Given the description of an element on the screen output the (x, y) to click on. 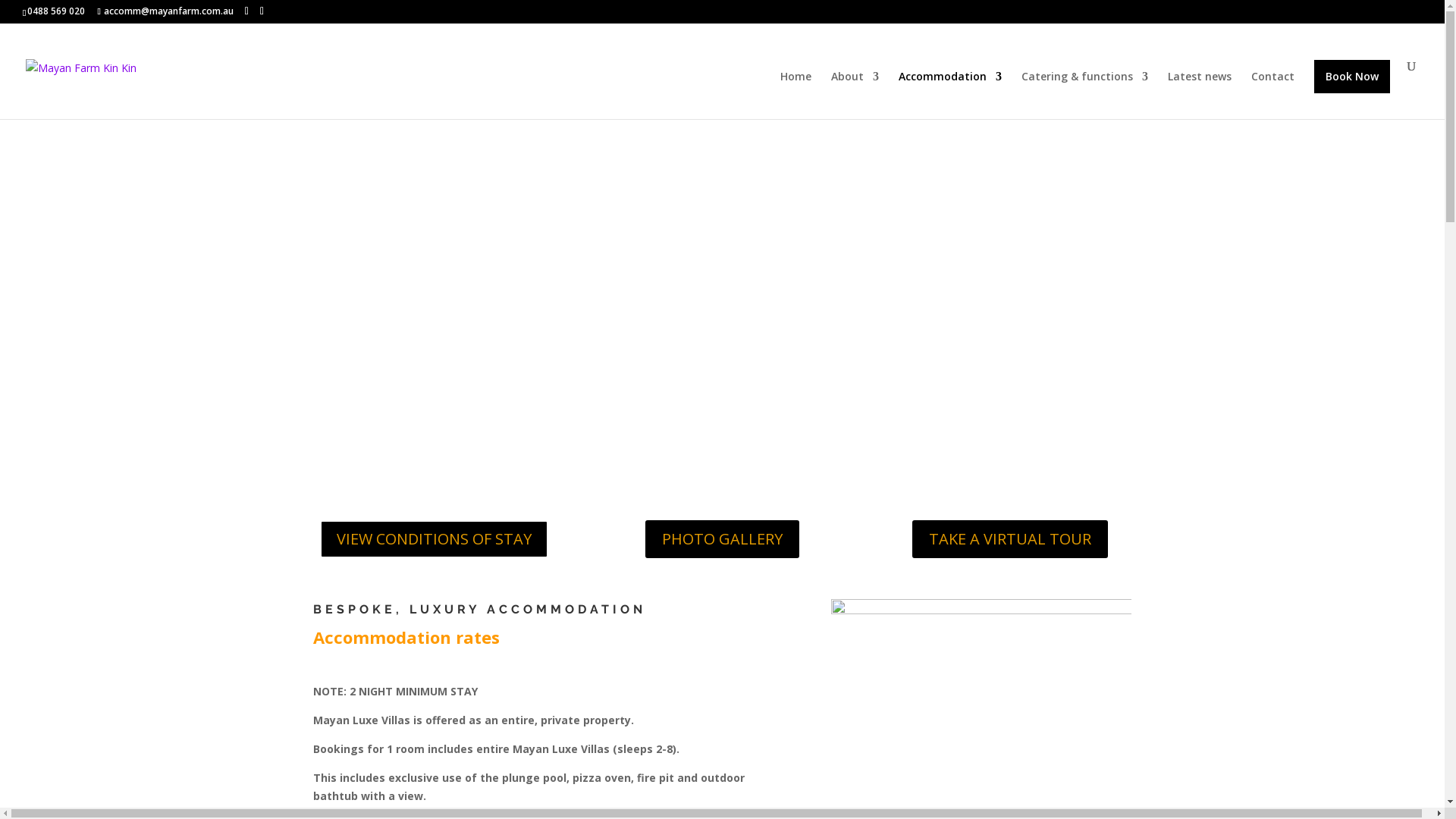
PHOTO GALLERY Element type: text (722, 539)
pizza oven Element type: hover (981, 699)
About Element type: text (854, 95)
Book Now Element type: text (1352, 76)
Home Element type: text (795, 95)
Accommodation Element type: text (949, 95)
Latest news Element type: text (1199, 95)
accomm@mayanfarm.com.au Element type: text (164, 10)
Contact Element type: text (1272, 95)
Catering & functions Element type: text (1084, 95)
TAKE A VIRTUAL TOUR Element type: text (1009, 539)
VIEW CONDITIONS OF STAY Element type: text (434, 539)
